Given the description of an element on the screen output the (x, y) to click on. 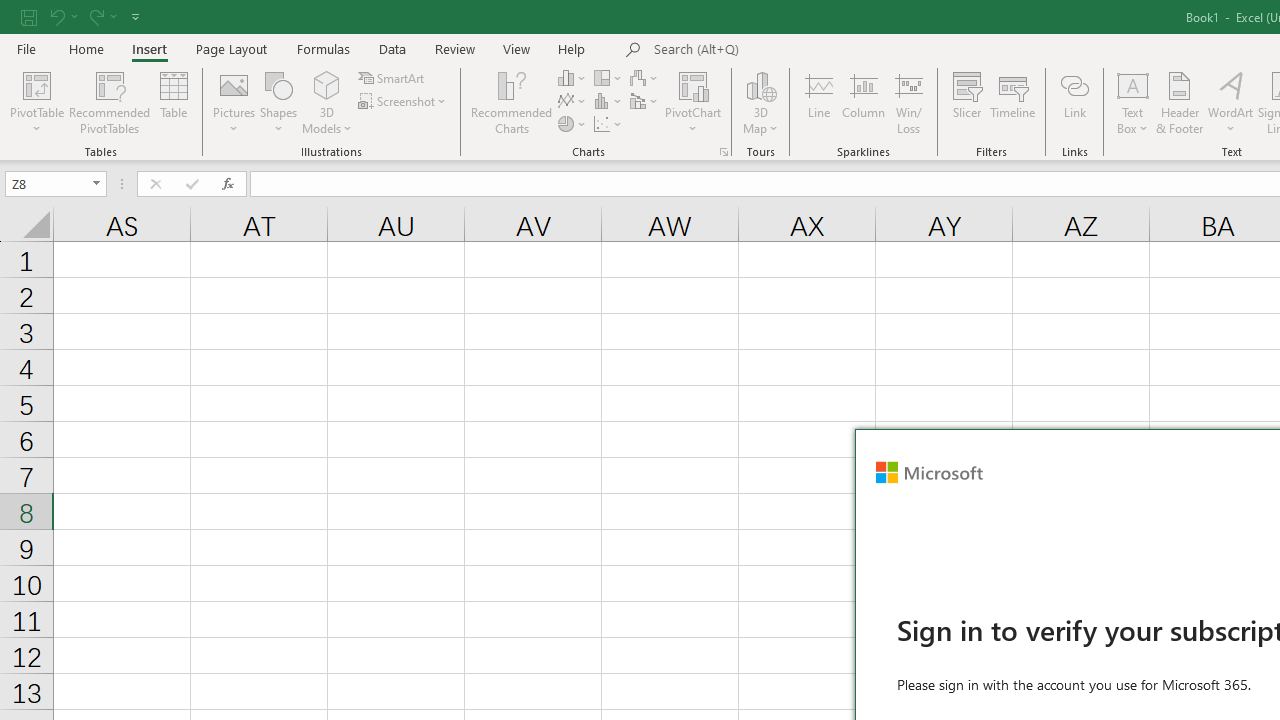
Slicer... (966, 102)
Quick Access Toolbar (82, 16)
Insert Line or Area Chart (573, 101)
PivotTable (36, 102)
Insert Waterfall, Funnel, Stock, Surface, or Radar Chart (645, 78)
Insert Combo Chart (645, 101)
SmartArt... (392, 78)
PivotChart (693, 102)
Review (454, 48)
Timeline (1013, 102)
